Given the description of an element on the screen output the (x, y) to click on. 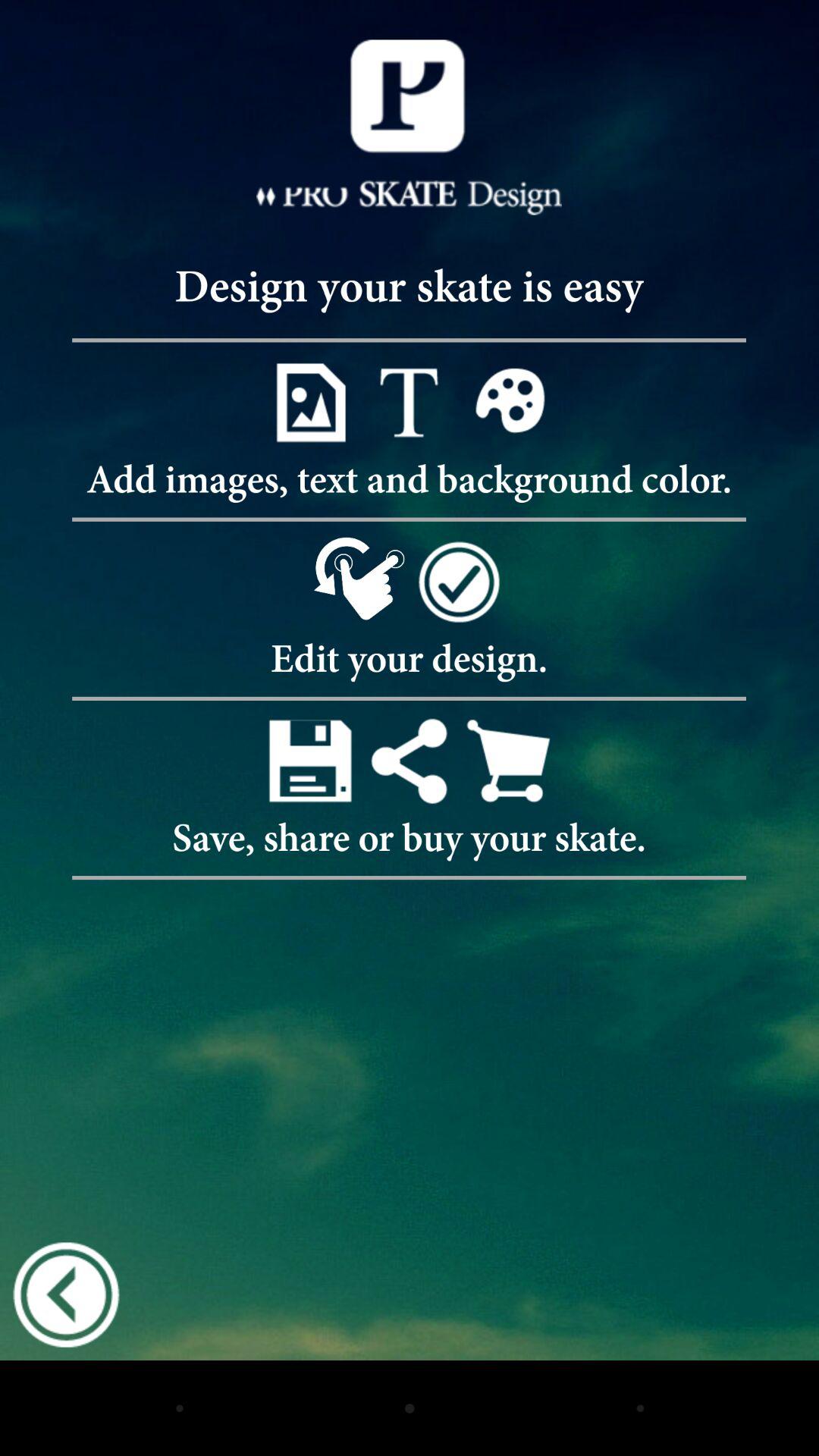
view the cart (508, 760)
